Given the description of an element on the screen output the (x, y) to click on. 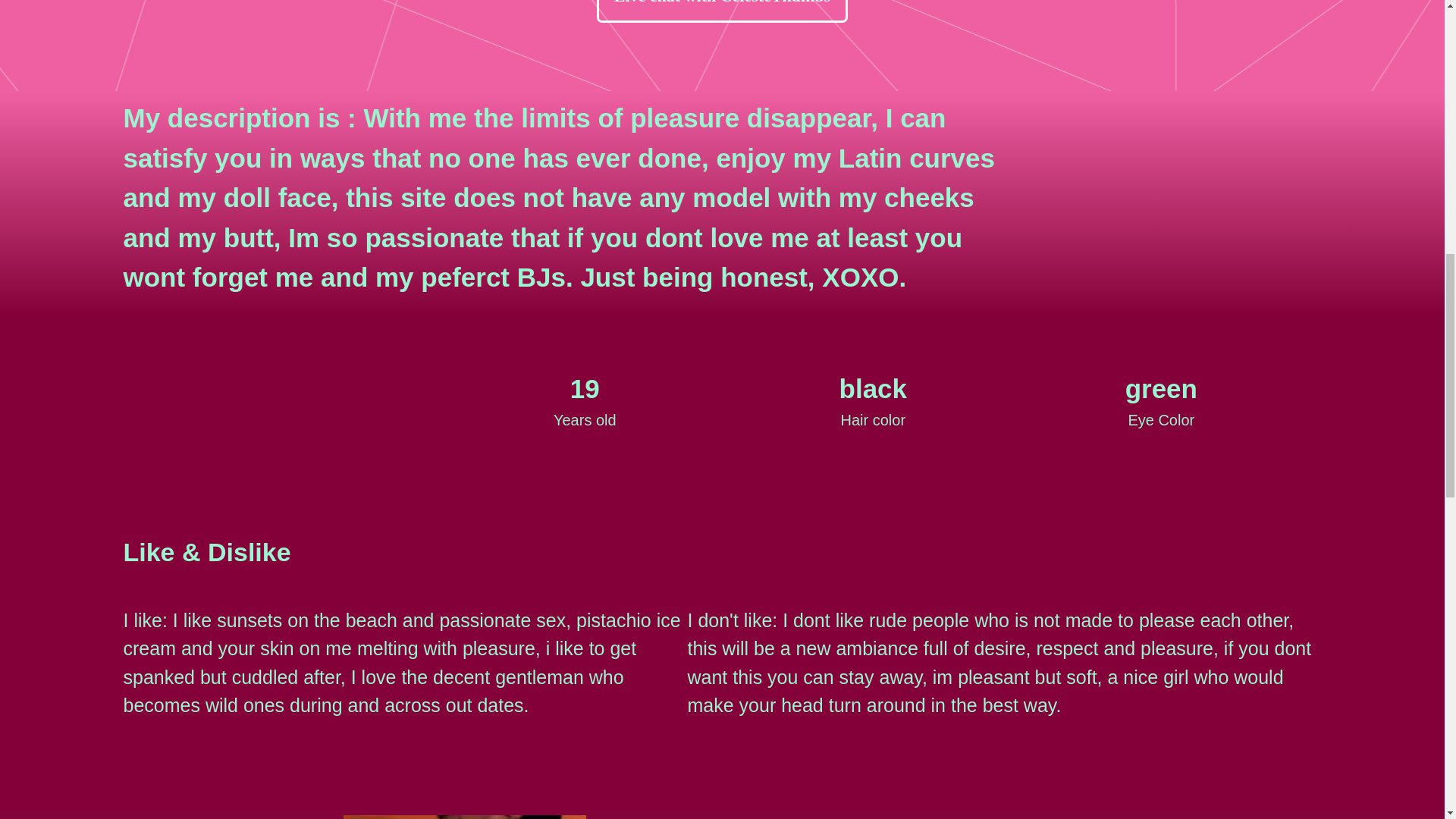
Live chat with CelesteThumbs (721, 11)
